Given the description of an element on the screen output the (x, y) to click on. 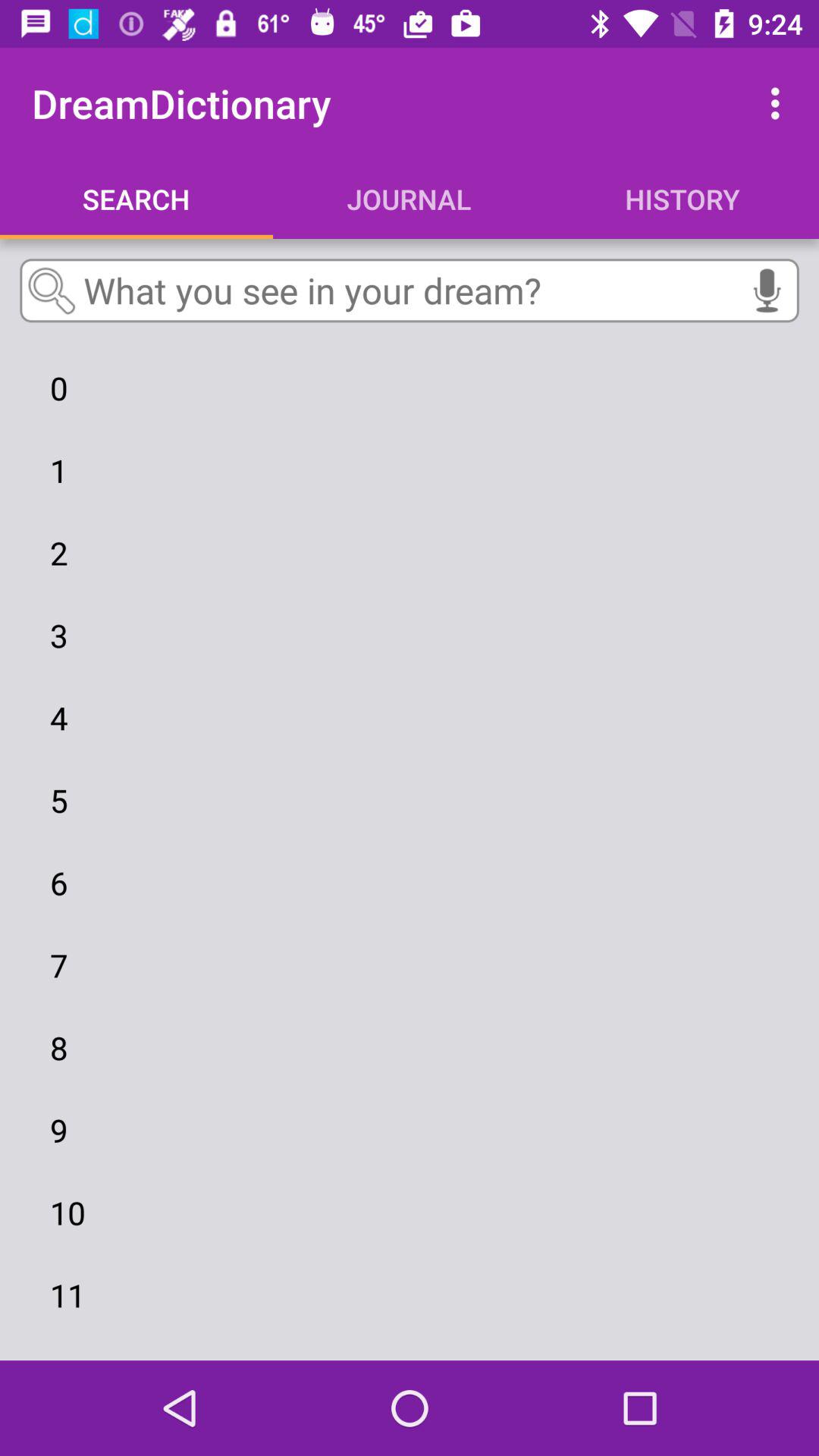
click the item to the right of dreamdictionary app (779, 103)
